Given the description of an element on the screen output the (x, y) to click on. 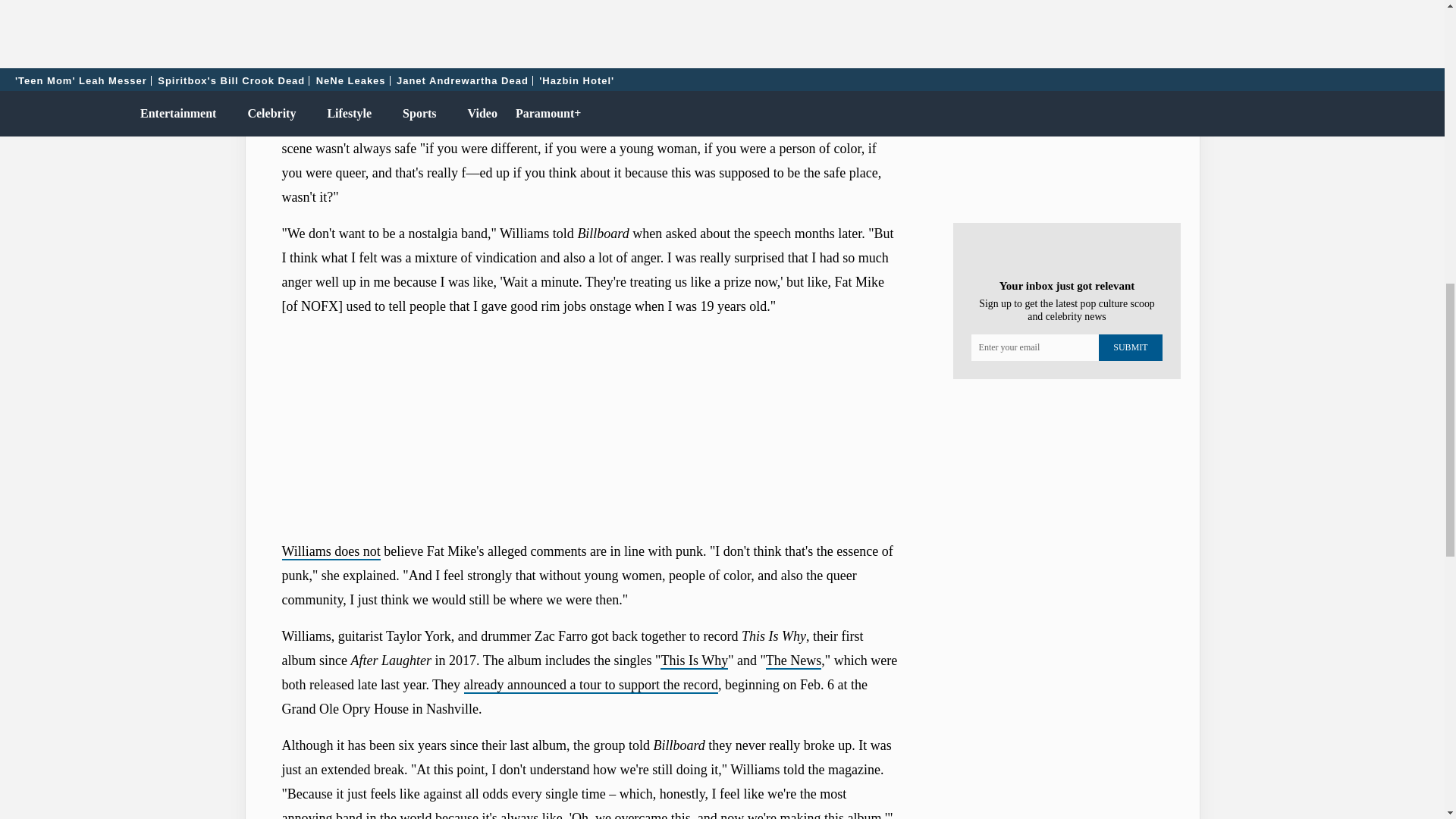
submit (1130, 347)
